Given the description of an element on the screen output the (x, y) to click on. 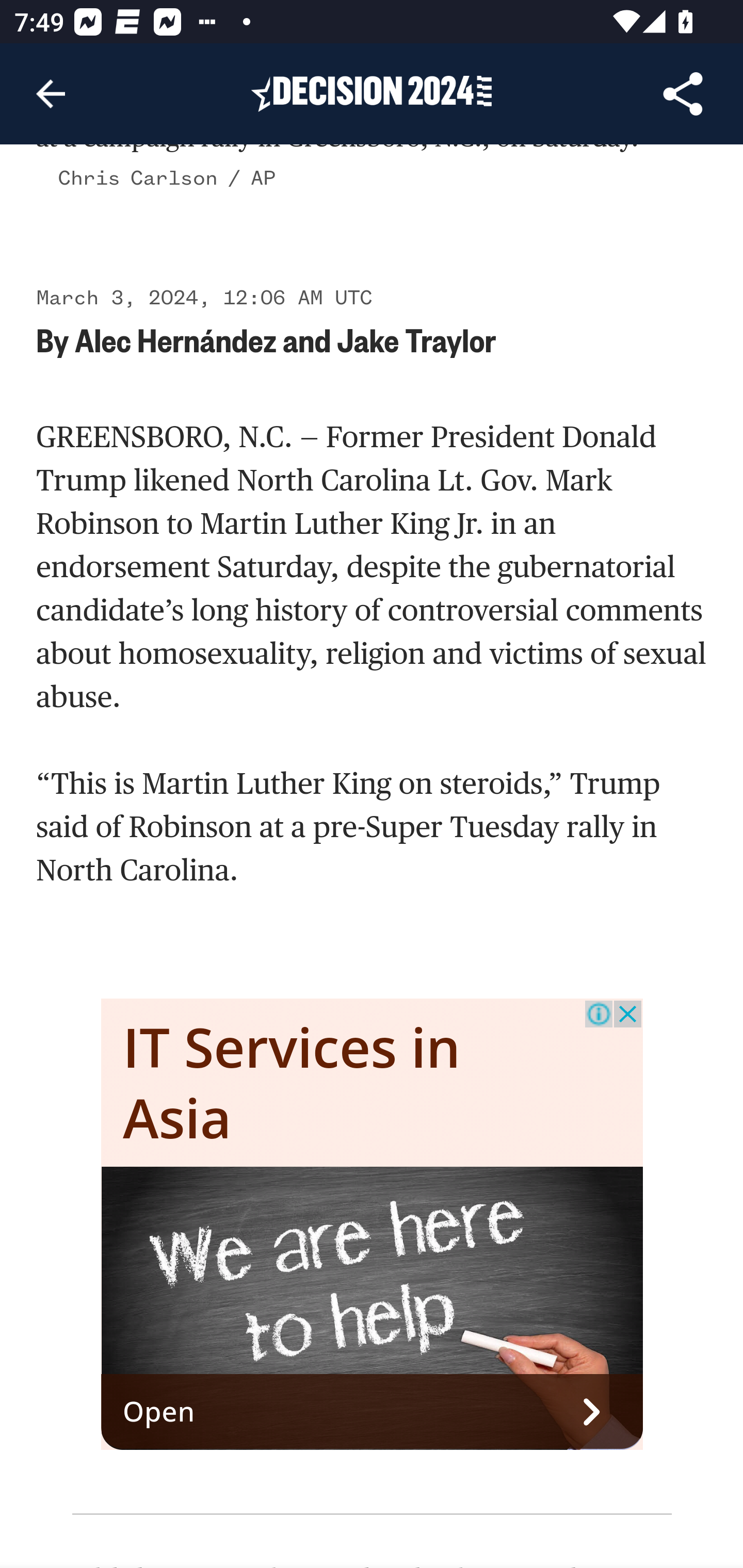
Navigate up (50, 93)
Share Article, button (683, 94)
Header, Decision 2024 (371, 93)
IT Services in Asia IT Services in Asia (292, 1082)
Open (372, 1412)
